Given the description of an element on the screen output the (x, y) to click on. 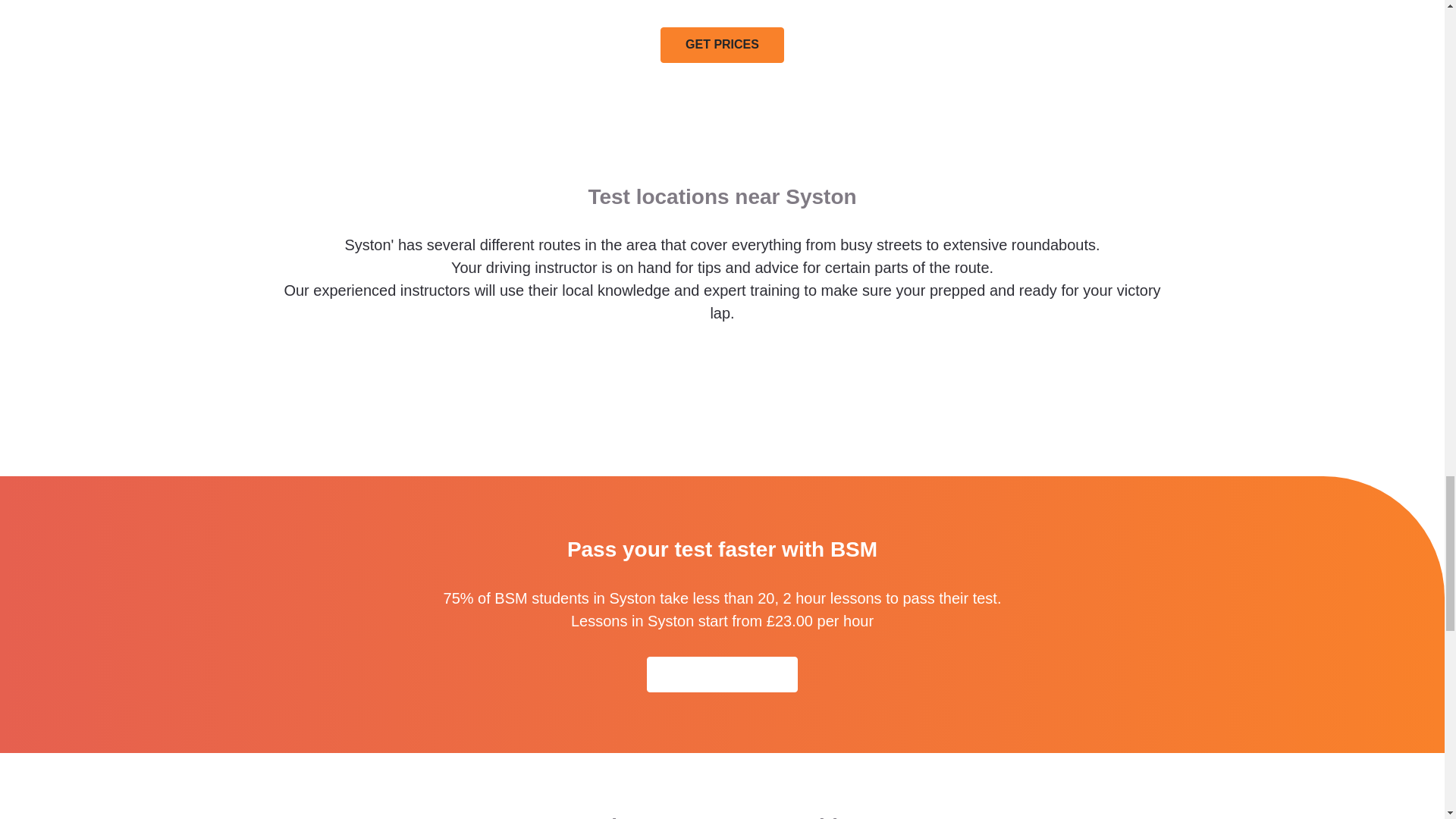
GET PRICES (722, 45)
BOOK A LESSON (721, 674)
